Given the description of an element on the screen output the (x, y) to click on. 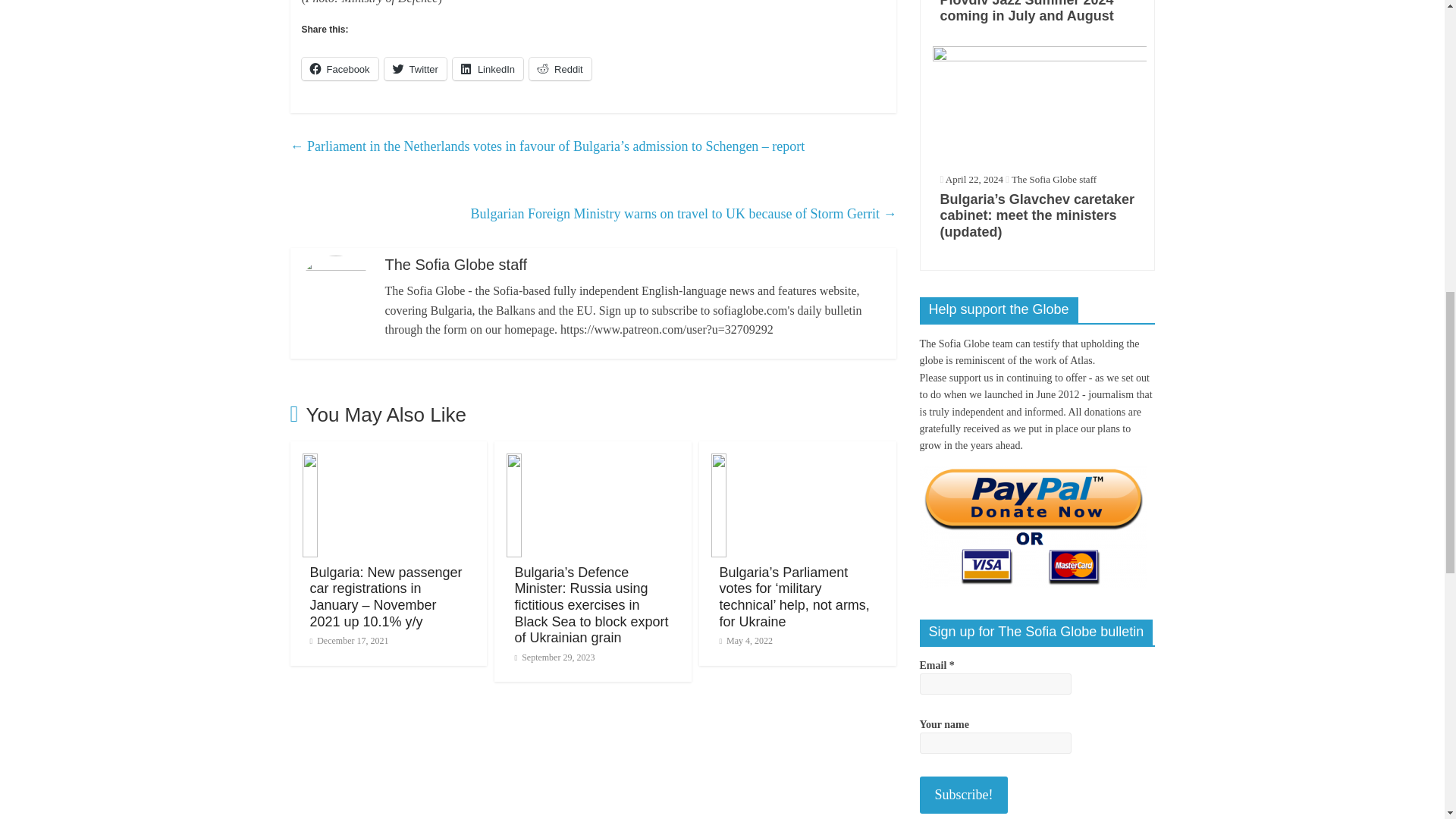
Subscribe! (962, 795)
September 29, 2023 (553, 656)
Reddit (560, 68)
Click to share on LinkedIn (487, 68)
12:44 PM (553, 656)
Twitter (415, 68)
Click to share on Twitter (415, 68)
Facebook (339, 68)
Click to share on Reddit (560, 68)
LinkedIn (487, 68)
December 17, 2021 (348, 640)
12:05 PM (348, 640)
Click to share on Facebook (339, 68)
May 4, 2022 (746, 640)
